Given the description of an element on the screen output the (x, y) to click on. 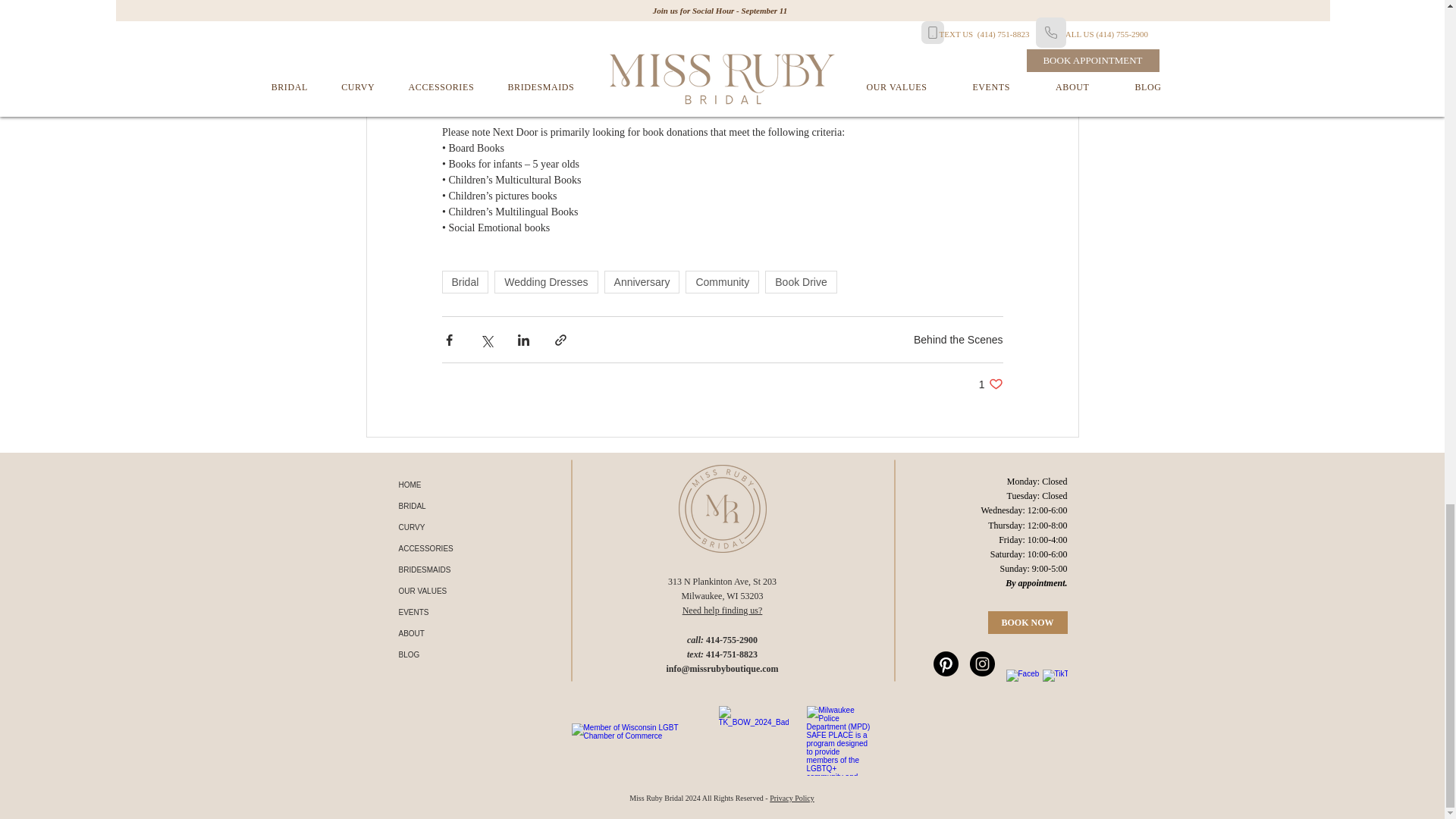
Bridal (464, 282)
Book Drive (800, 282)
Community (721, 282)
Wedding Dresses (545, 282)
Anniversary (641, 282)
